Given the description of an element on the screen output the (x, y) to click on. 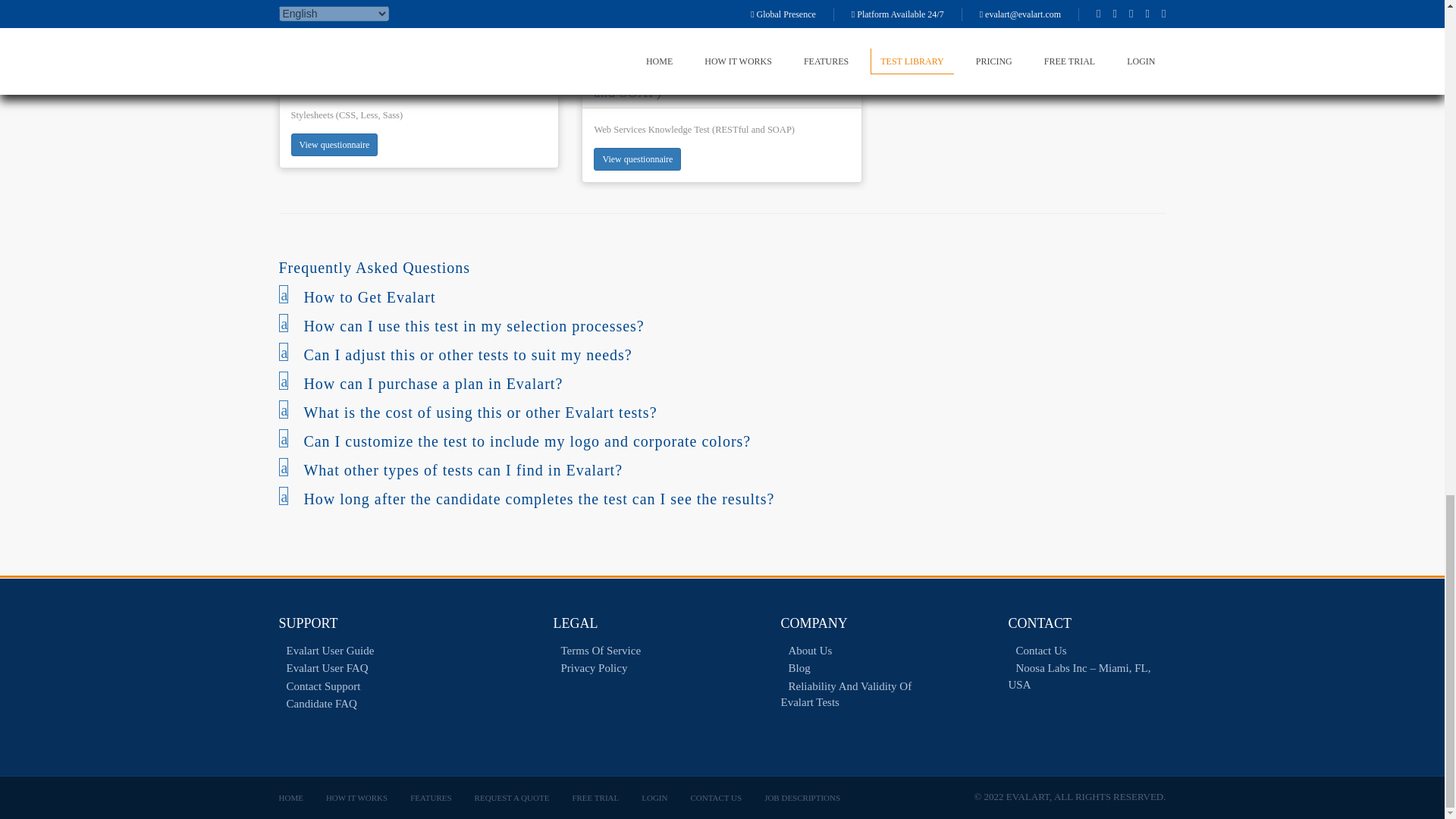
Evalart User FAQ (323, 667)
View questionnaire (722, 325)
View questionnaire (334, 144)
View questionnaire (722, 412)
Privacy Policy (637, 159)
Contact Support (334, 23)
Terms of Service (722, 354)
Candidate FAQ (590, 667)
View questionnaire (722, 383)
